Given the description of an element on the screen output the (x, y) to click on. 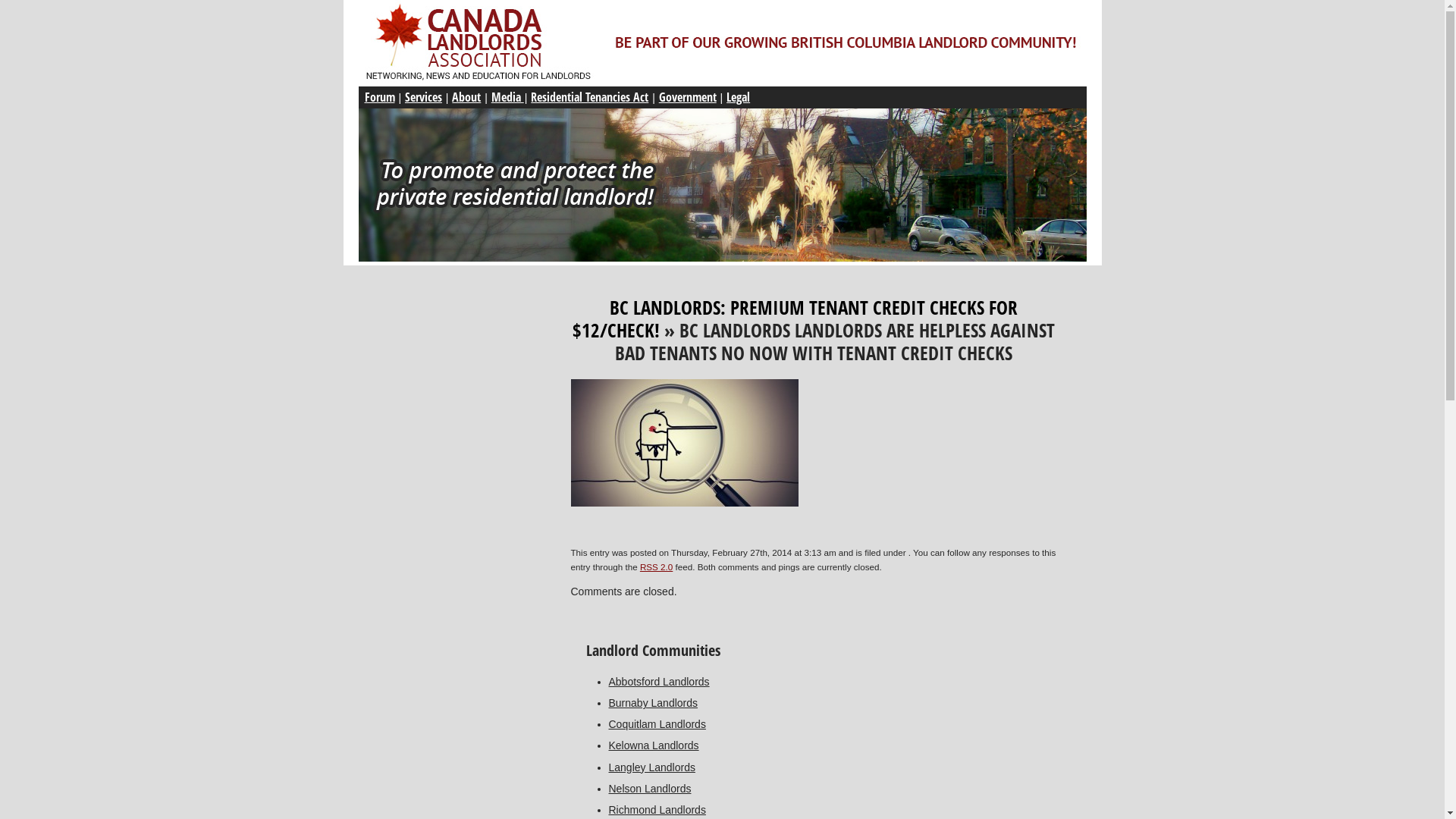
Legal Element type: text (737, 96)
Richmond Landlords Element type: text (683, 809)
Langley Landlords Element type: text (683, 767)
Kelowna Landlords Element type: text (683, 745)
Media Element type: text (507, 96)
Coquitlam Landlords Element type: text (683, 724)
Forum Element type: text (379, 96)
Services Element type: text (423, 96)
Residential Tenancies Act Element type: text (589, 96)
BC LANDLORDS: PREMIUM TENANT CREDIT CHECKS FOR $12/CHECK! Element type: text (793, 318)
Abbotsford Landlords Element type: text (683, 681)
Burnaby Landlords Element type: text (683, 702)
Nelson Landlords Element type: text (683, 788)
Government Element type: text (687, 96)
About Element type: text (465, 96)
RSS 2.0 Element type: text (656, 566)
